Given the description of an element on the screen output the (x, y) to click on. 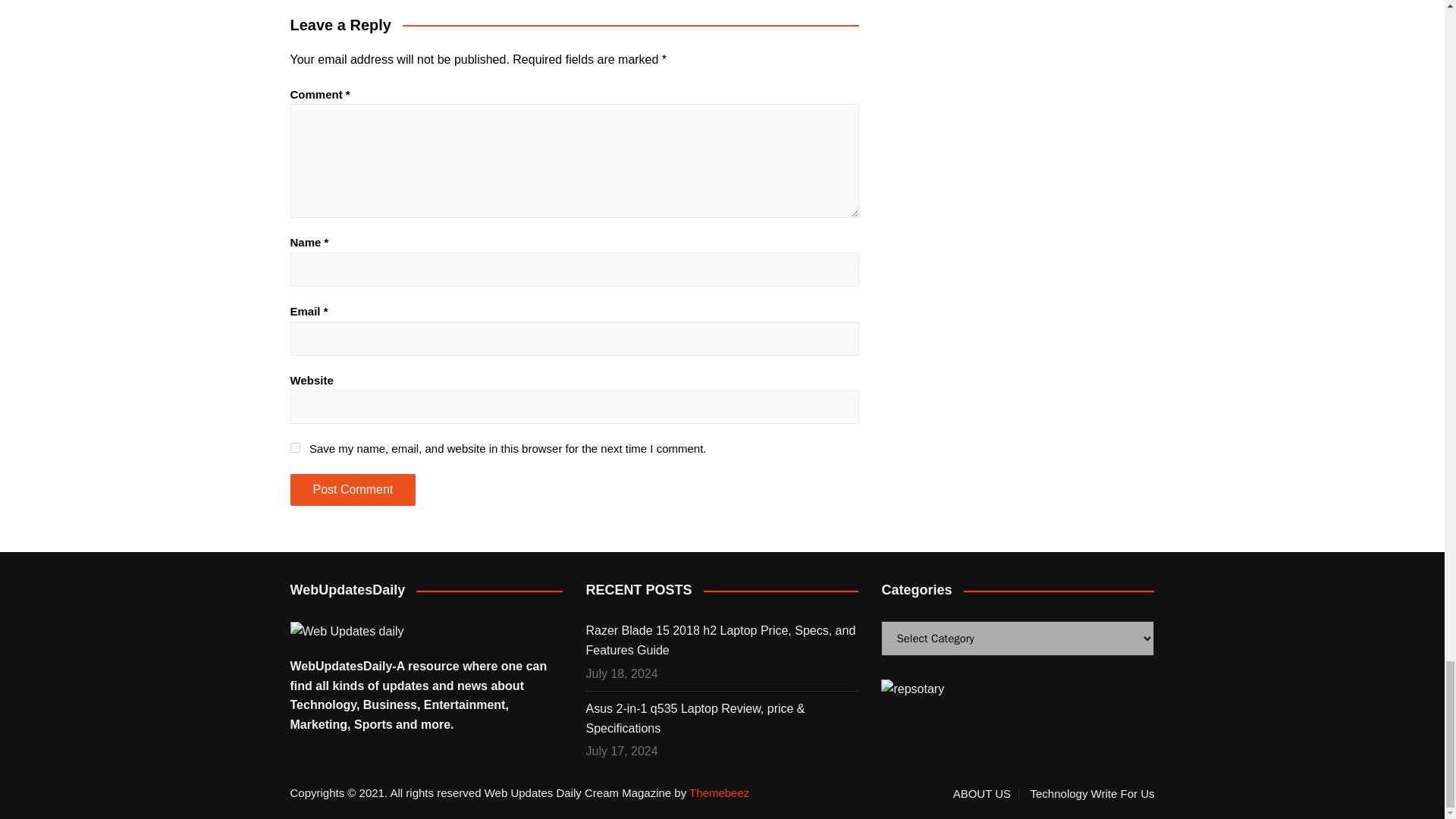
Post Comment (351, 490)
yes (294, 447)
